Given the description of an element on the screen output the (x, y) to click on. 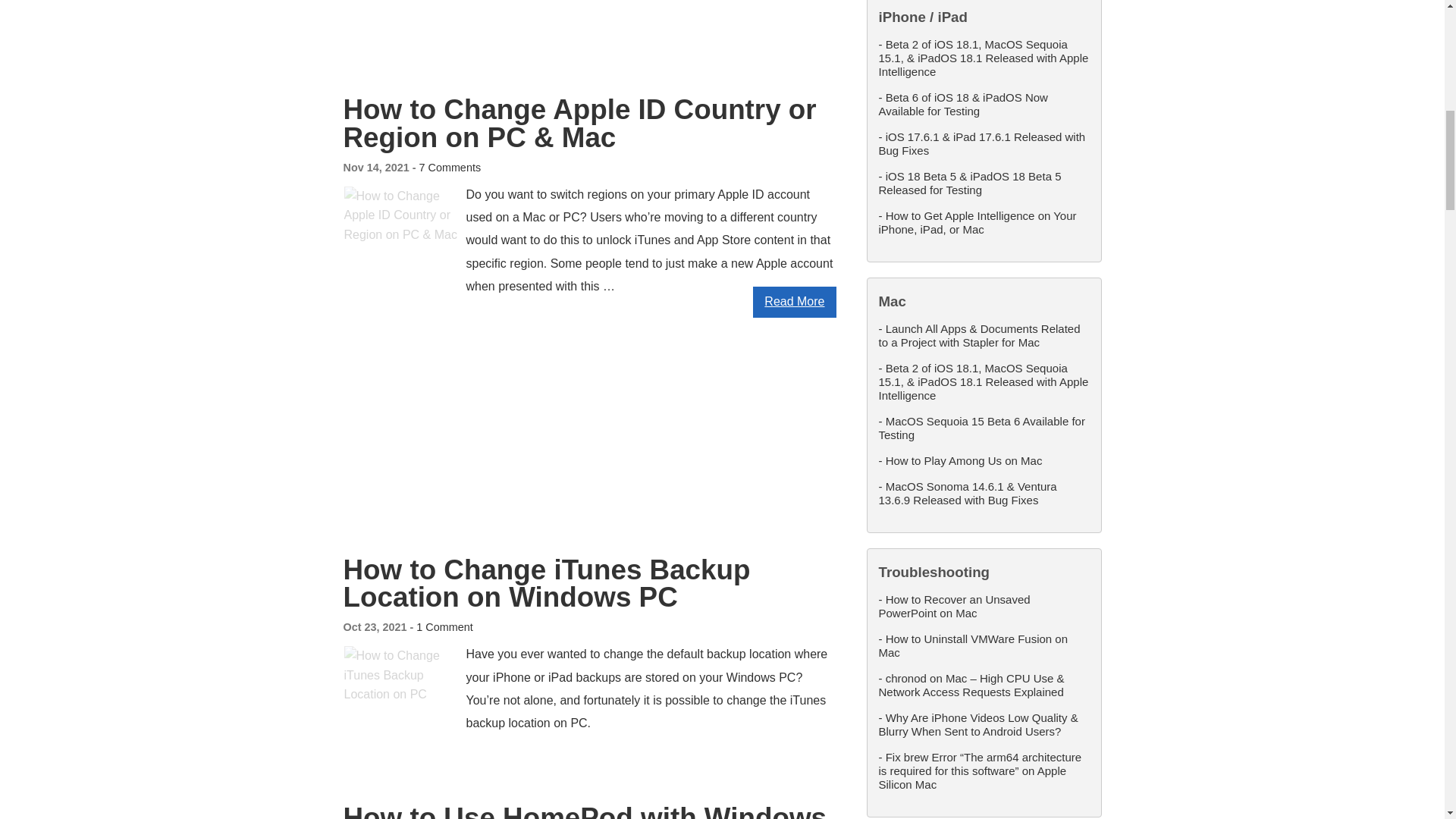
How to Use HomePod with Windows PC and iTunes (583, 810)
7 Comments (449, 167)
1 Comment (443, 626)
How to Change iTunes Backup Location on Windows PC (545, 583)
How to Change iTunes Backup Location on Windows PC (545, 583)
How to Use HomePod with Windows PC and iTunes (583, 810)
Read More (793, 301)
